Given the description of an element on the screen output the (x, y) to click on. 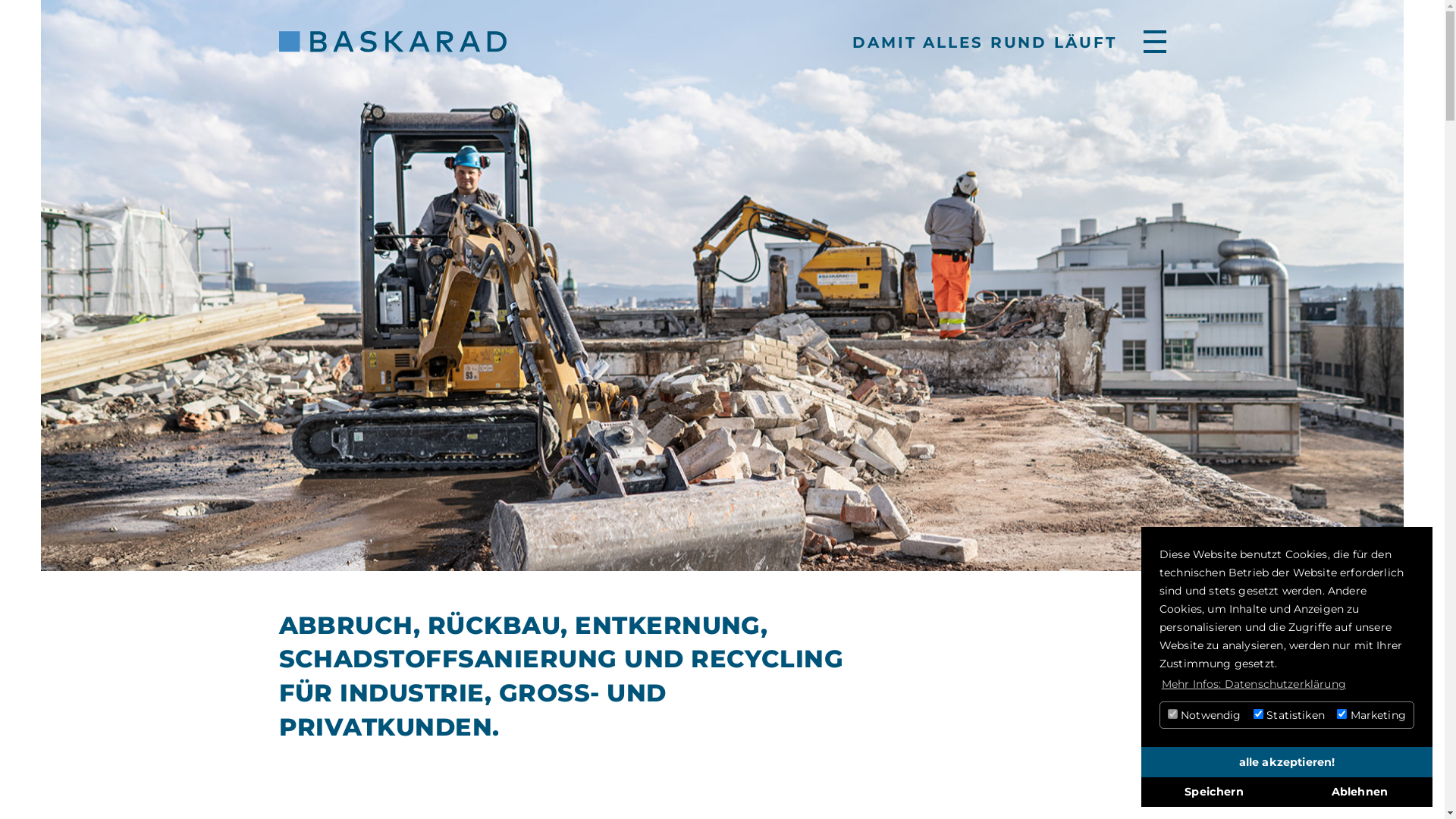
Home Element type: hover (392, 41)
Ablehnen Element type: text (1359, 791)
Speichern Element type: text (1213, 791)
alle akzeptieren! Element type: text (1286, 761)
